Given the description of an element on the screen output the (x, y) to click on. 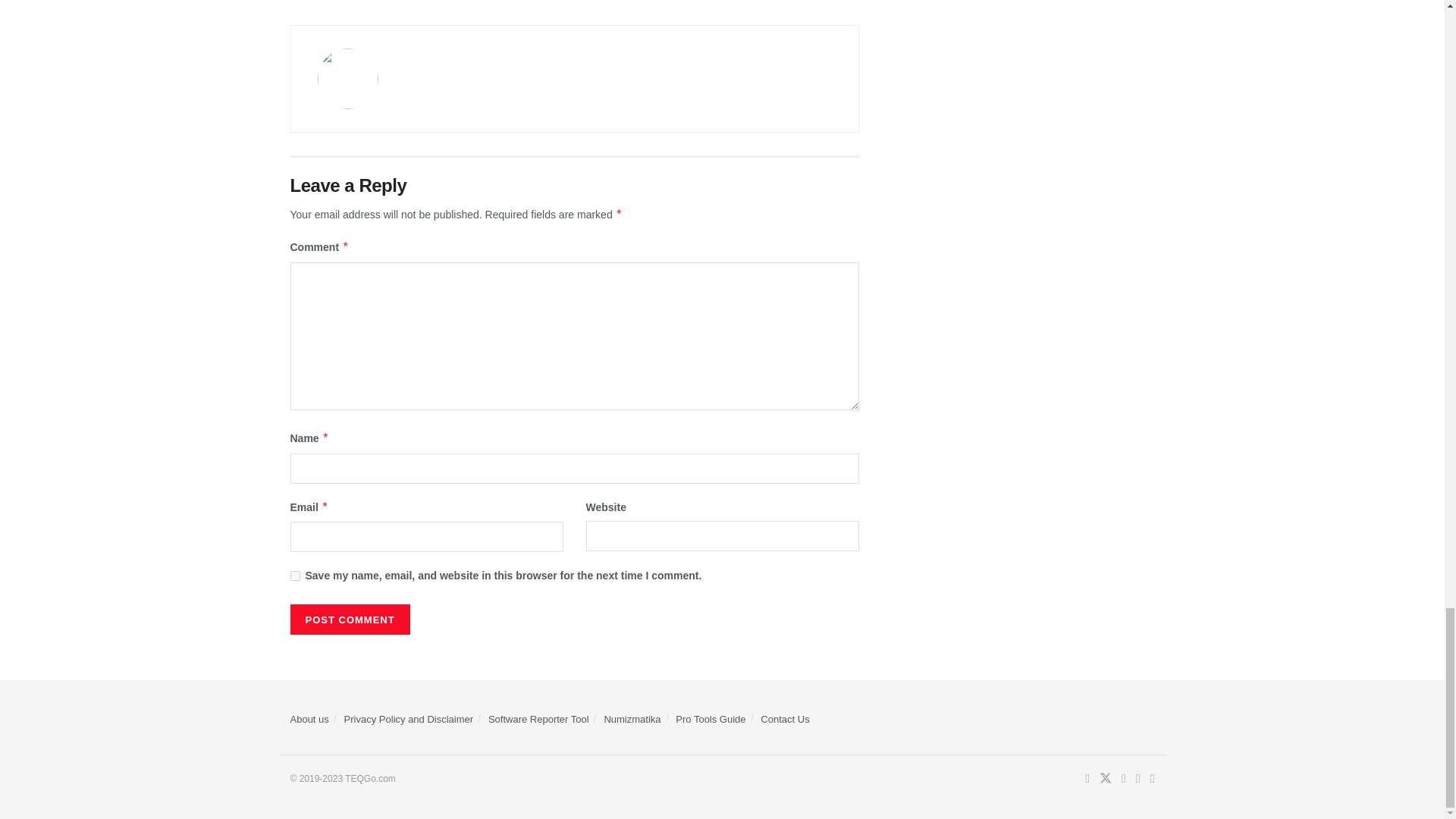
yes (294, 575)
Post Comment (349, 619)
